Given the description of an element on the screen output the (x, y) to click on. 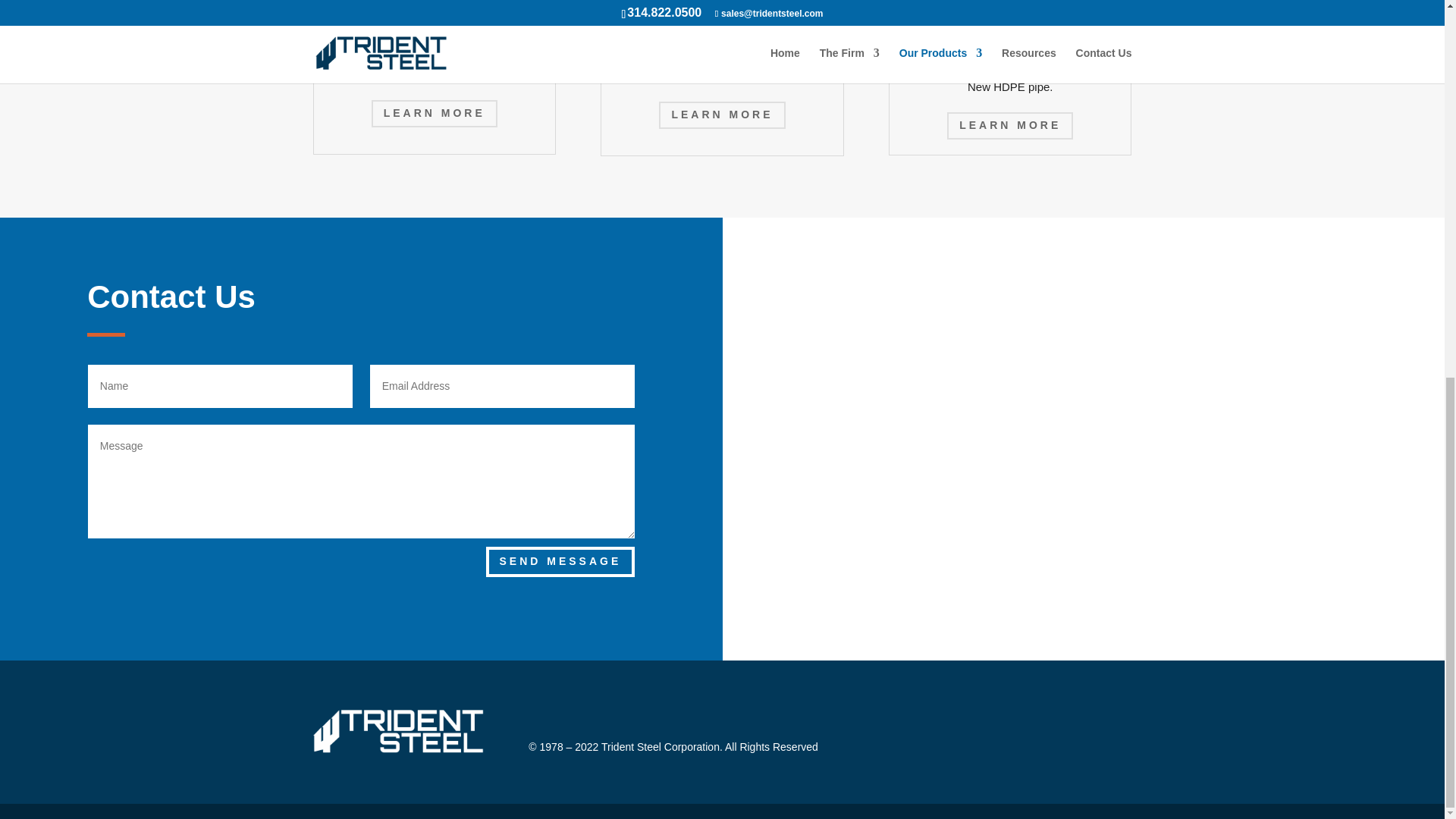
LEARN MORE (721, 114)
LEARN MORE (434, 113)
SEND MESSAGE (559, 562)
LEARN MORE (1010, 125)
